Given the description of an element on the screen output the (x, y) to click on. 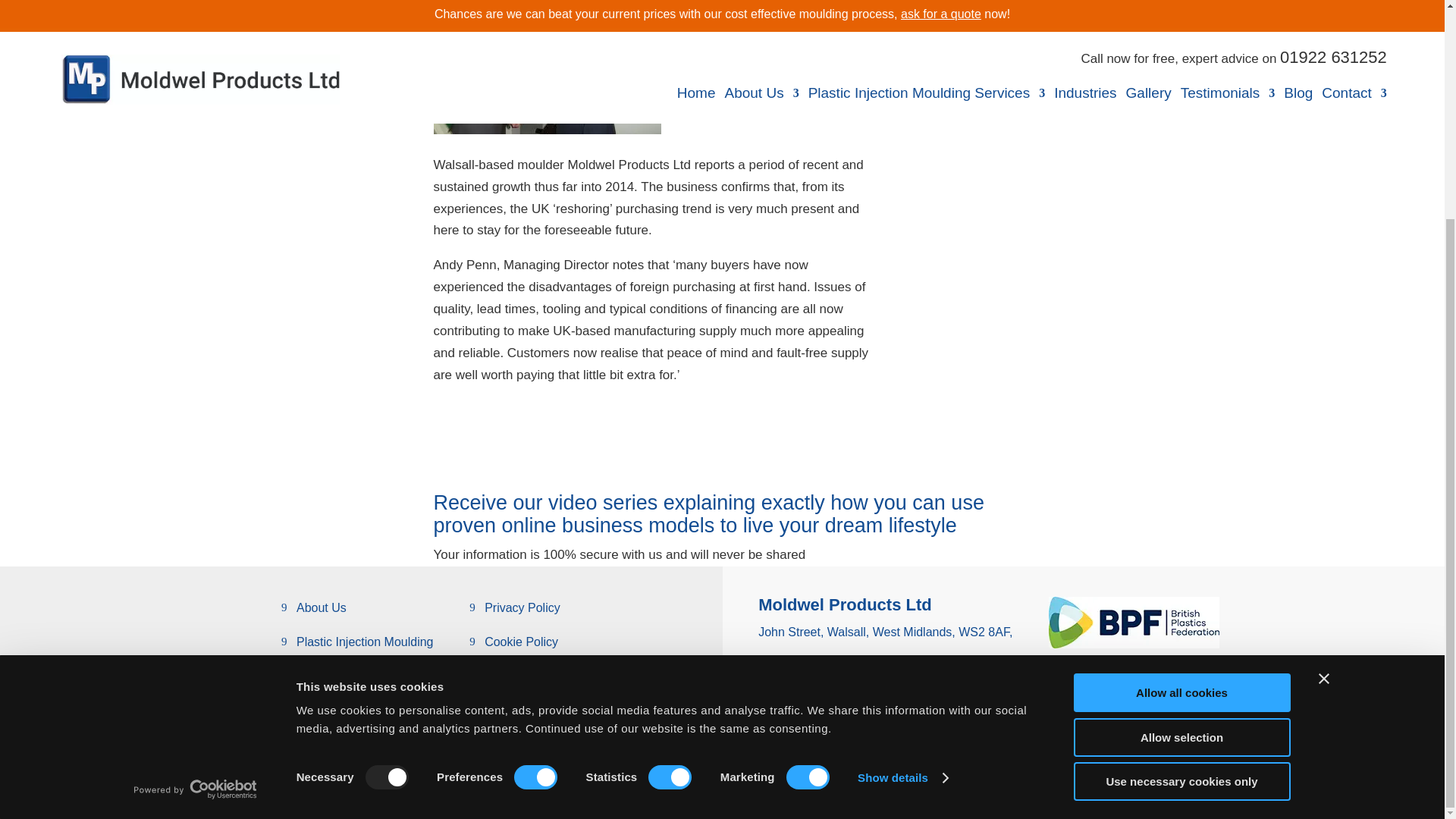
Show details (902, 488)
Allow selection (1182, 447)
Use necessary cookies only (1182, 492)
